Given the description of an element on the screen output the (x, y) to click on. 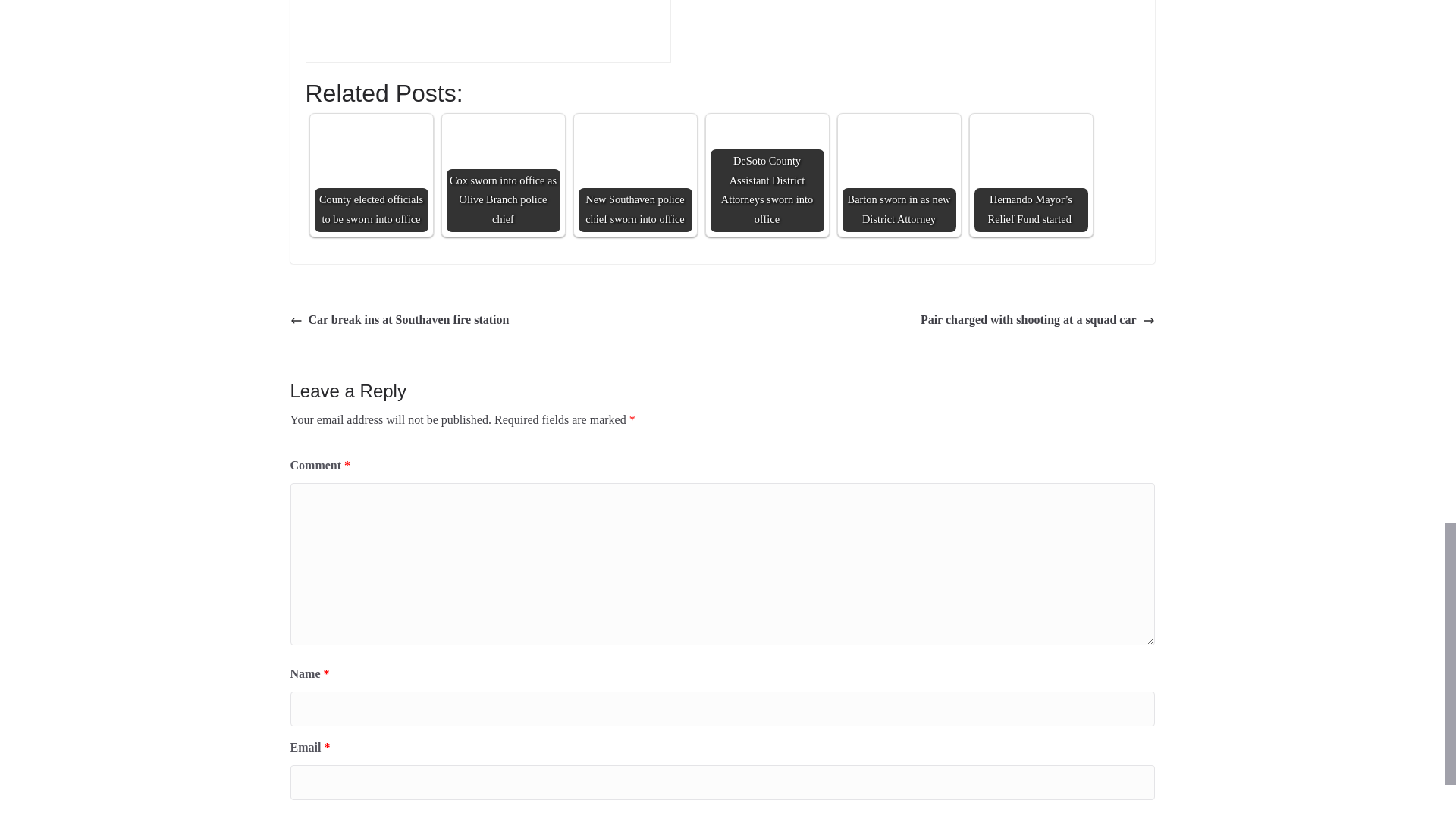
New Southaven police chief sworn into office (634, 174)
County elected officials to be sworn into office (371, 155)
Cox sworn into office as Olive Branch police chief (502, 174)
